Given the description of an element on the screen output the (x, y) to click on. 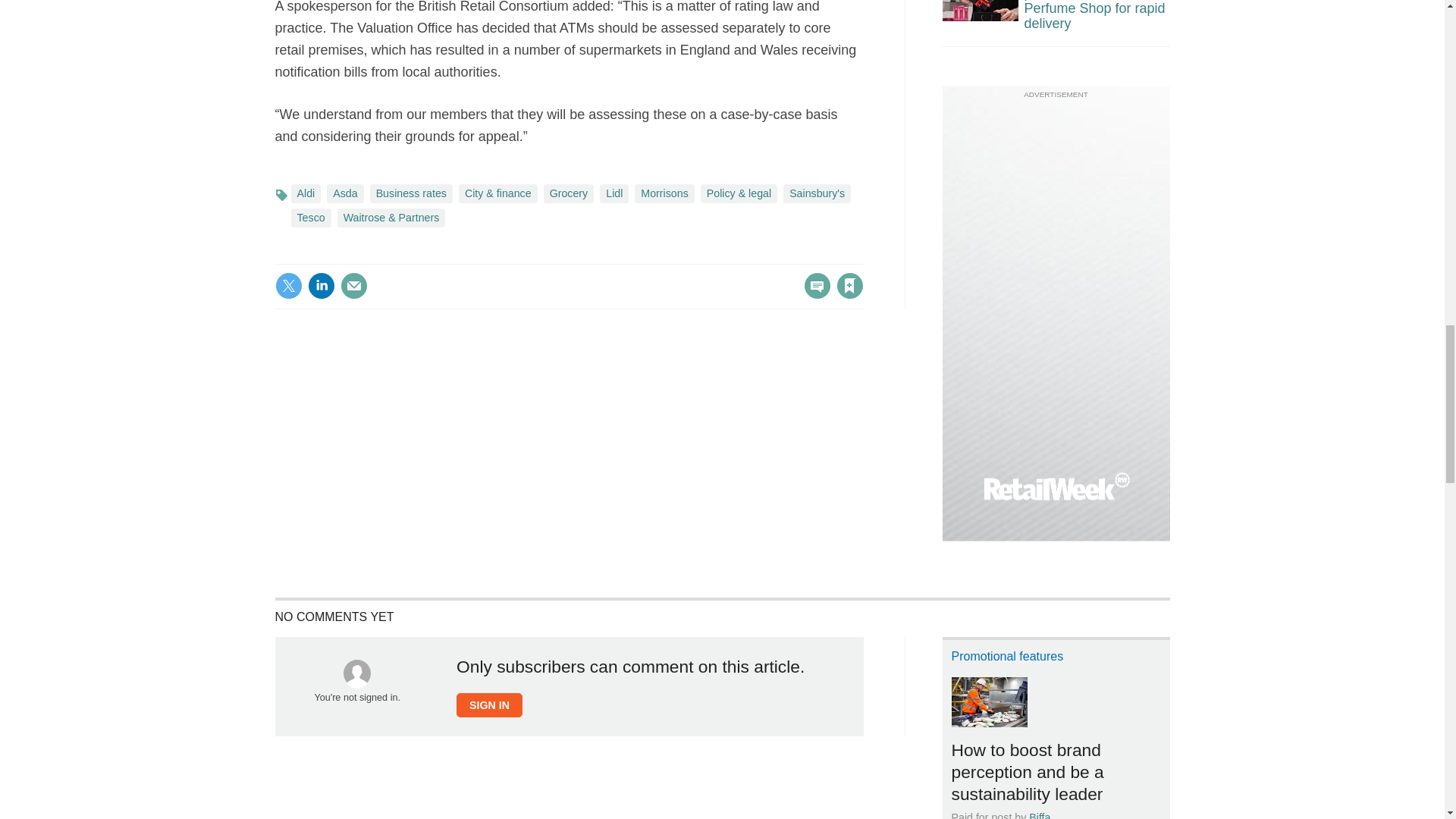
Share this on Twitter (288, 285)
Share this on Linked in (320, 285)
Email this article (352, 285)
No comments (812, 294)
